Given the description of an element on the screen output the (x, y) to click on. 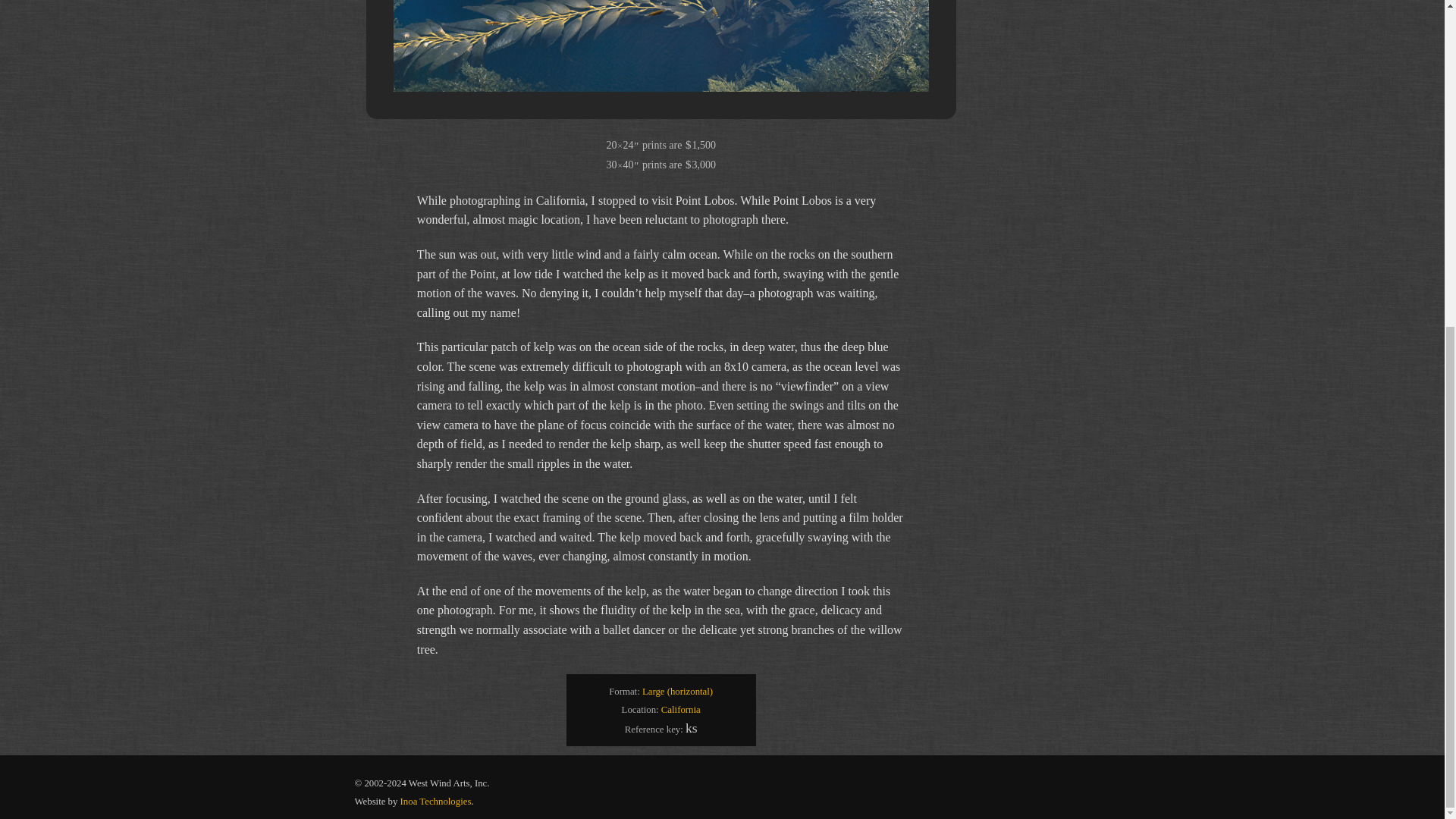
Inoa Technologies (435, 801)
California (680, 709)
